Given the description of an element on the screen output the (x, y) to click on. 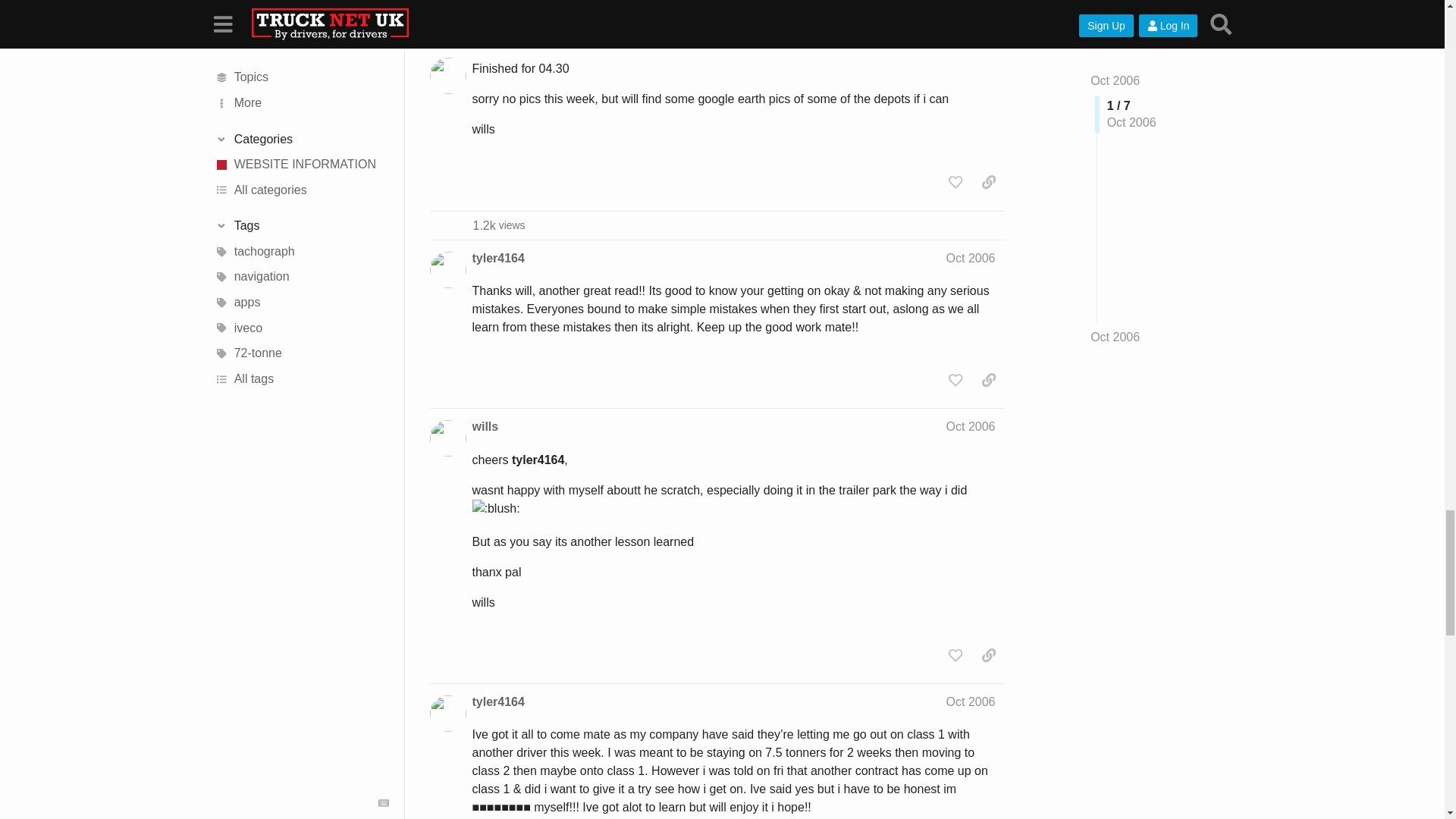
tyler4164 (498, 225)
Oct 2006 (497, 258)
